Given the description of an element on the screen output the (x, y) to click on. 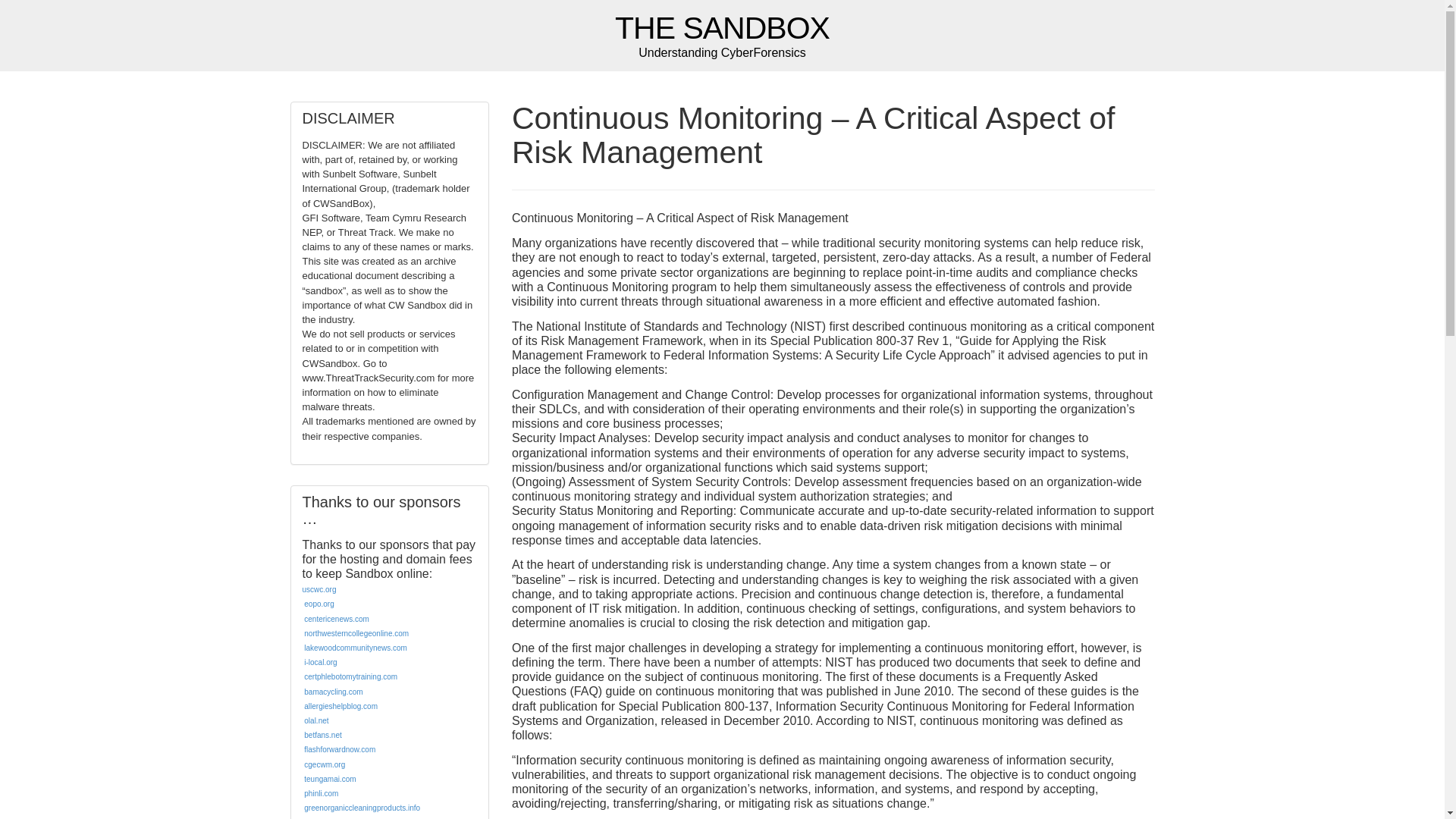
teungamai.com (329, 778)
bamacycling.com (333, 691)
eopo.org (318, 603)
centericenews.com (336, 619)
phinli.com (320, 793)
Understanding CyberForensics (722, 28)
allergieshelpblog.com (340, 705)
cgecwm.org (324, 764)
flashforwardnow.com (339, 749)
betfans.net (322, 735)
uscwc.org (318, 589)
olal.net (316, 720)
i-local.org (320, 662)
greenorganiccleaningproducts.info (362, 807)
THE SANDBOX (722, 28)
